Given the description of an element on the screen output the (x, y) to click on. 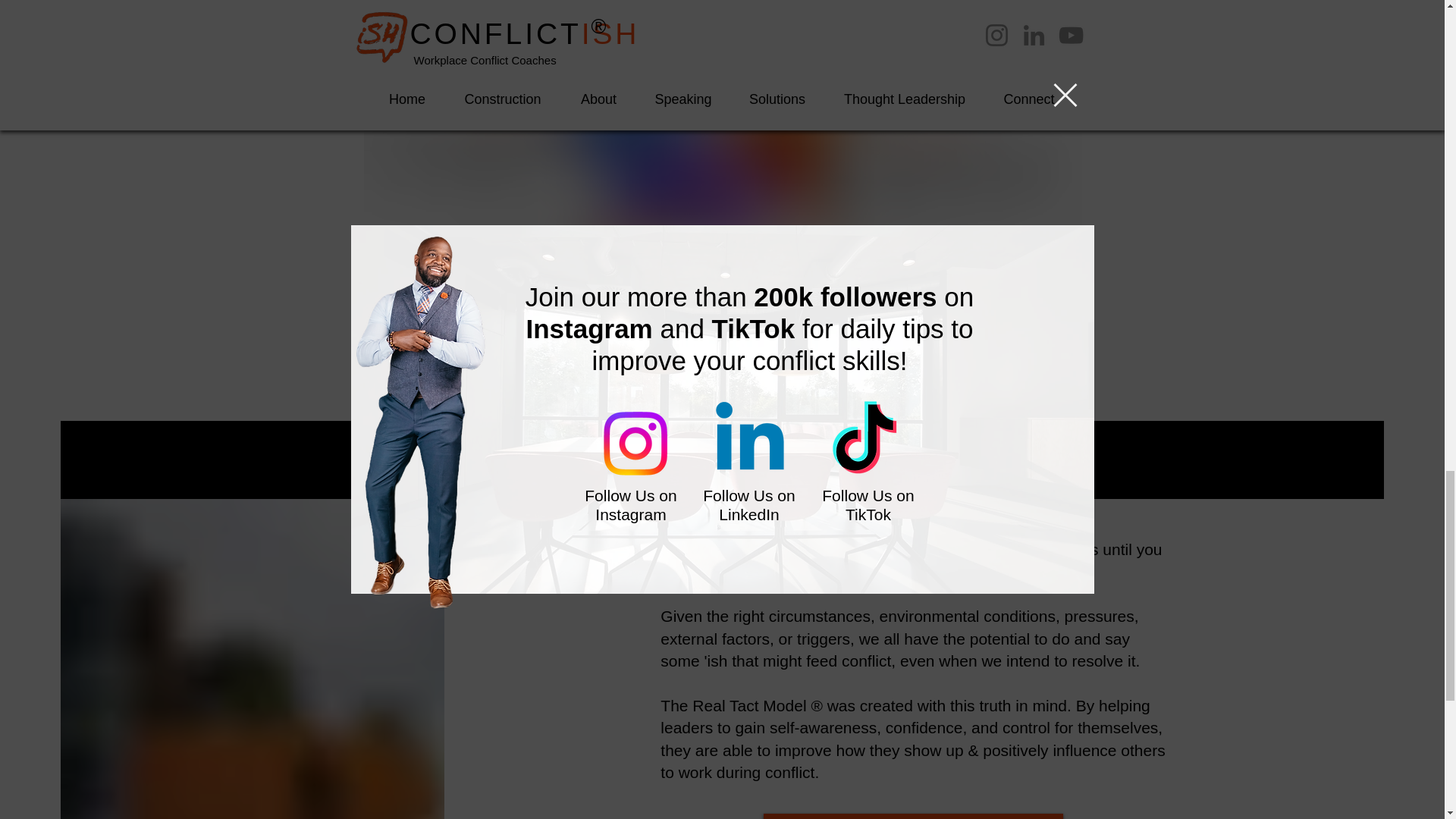
Learn More (728, 377)
Connect With Us Today (912, 816)
Sign Up! (932, 651)
